Given the description of an element on the screen output the (x, y) to click on. 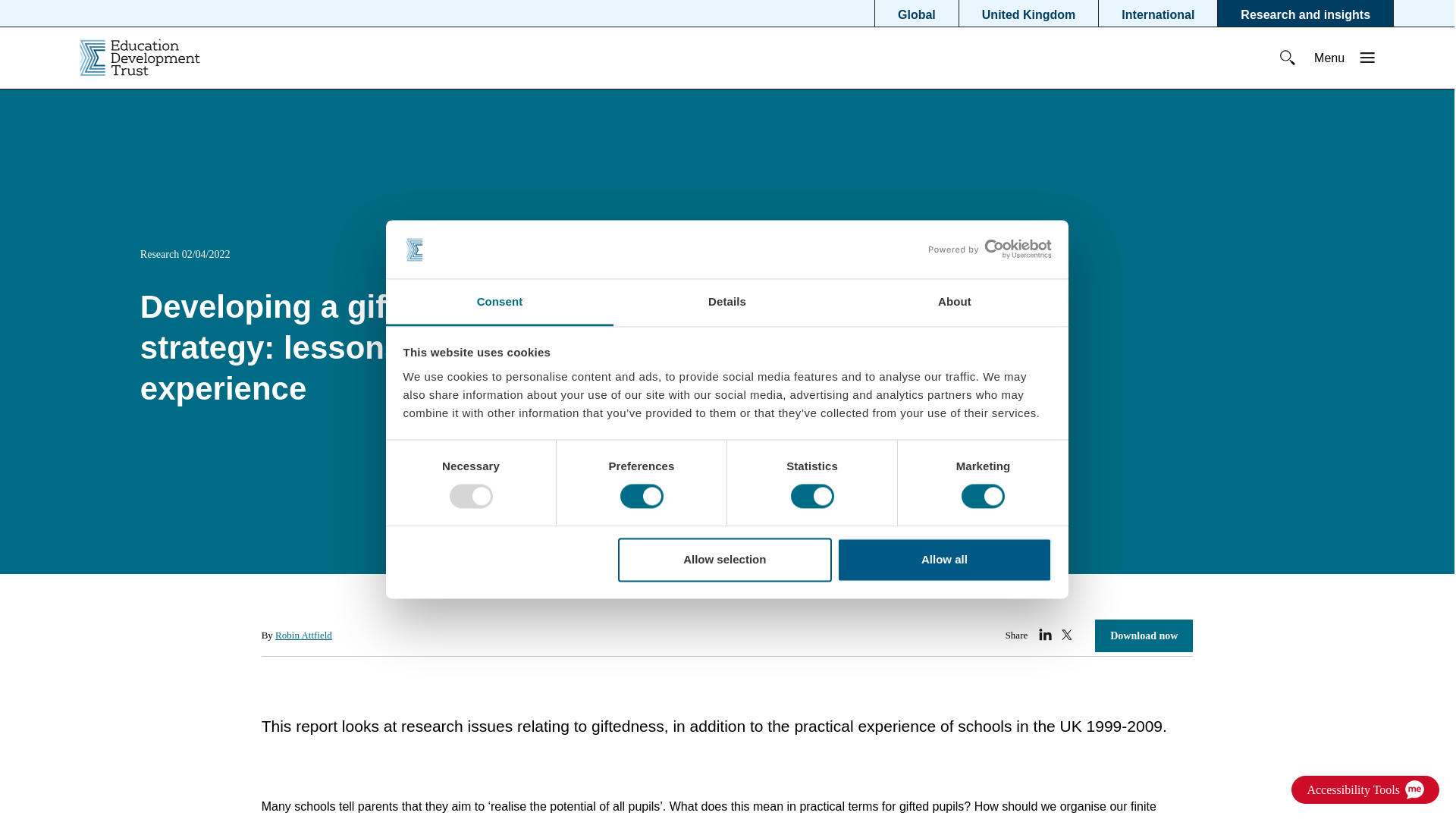
About (954, 302)
Consent (498, 302)
Details (726, 302)
